Given the description of an element on the screen output the (x, y) to click on. 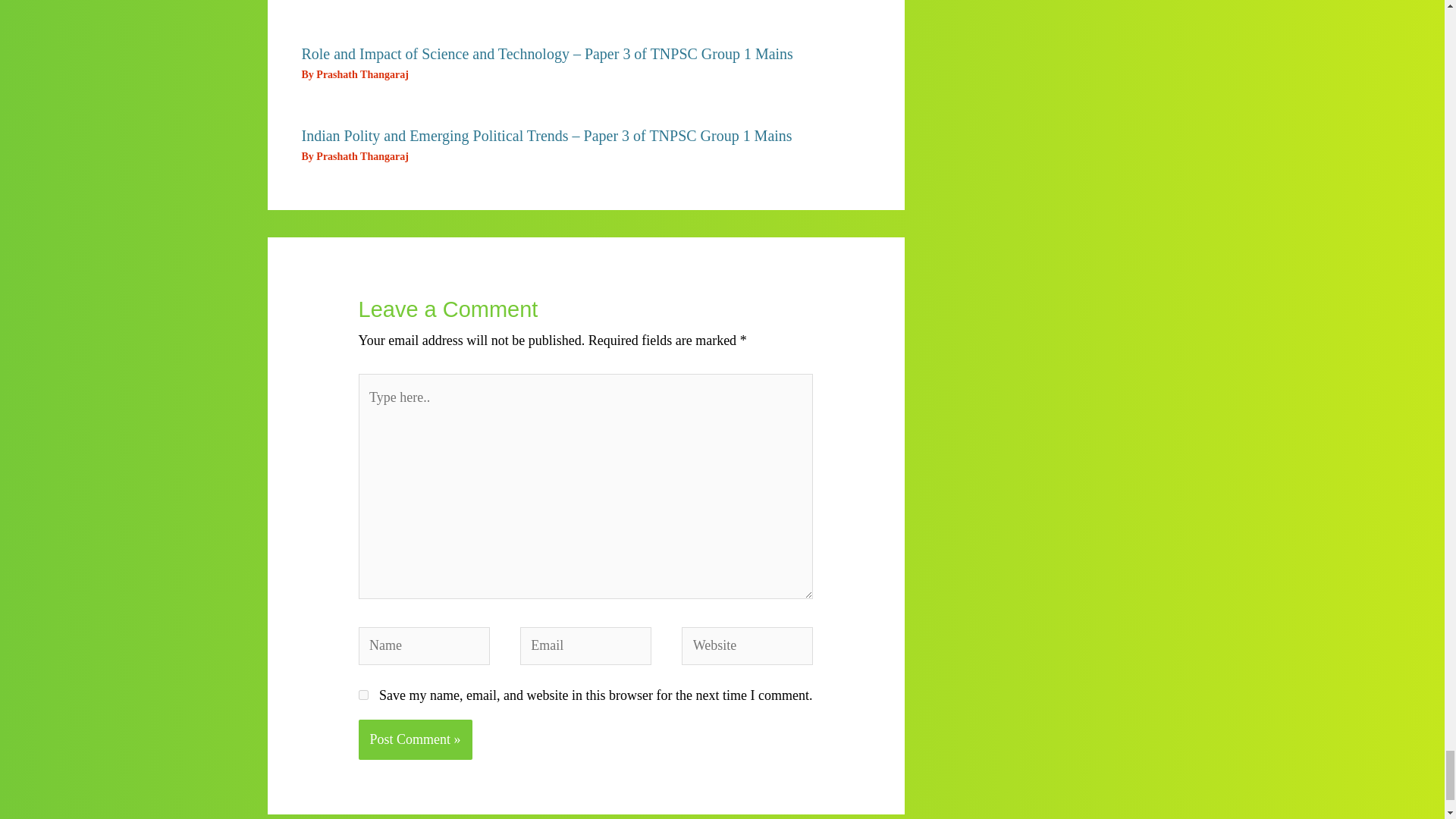
View all posts by Prashath Thangaraj (361, 156)
yes (363, 695)
View all posts by Prashath Thangaraj (361, 74)
